Given the description of an element on the screen output the (x, y) to click on. 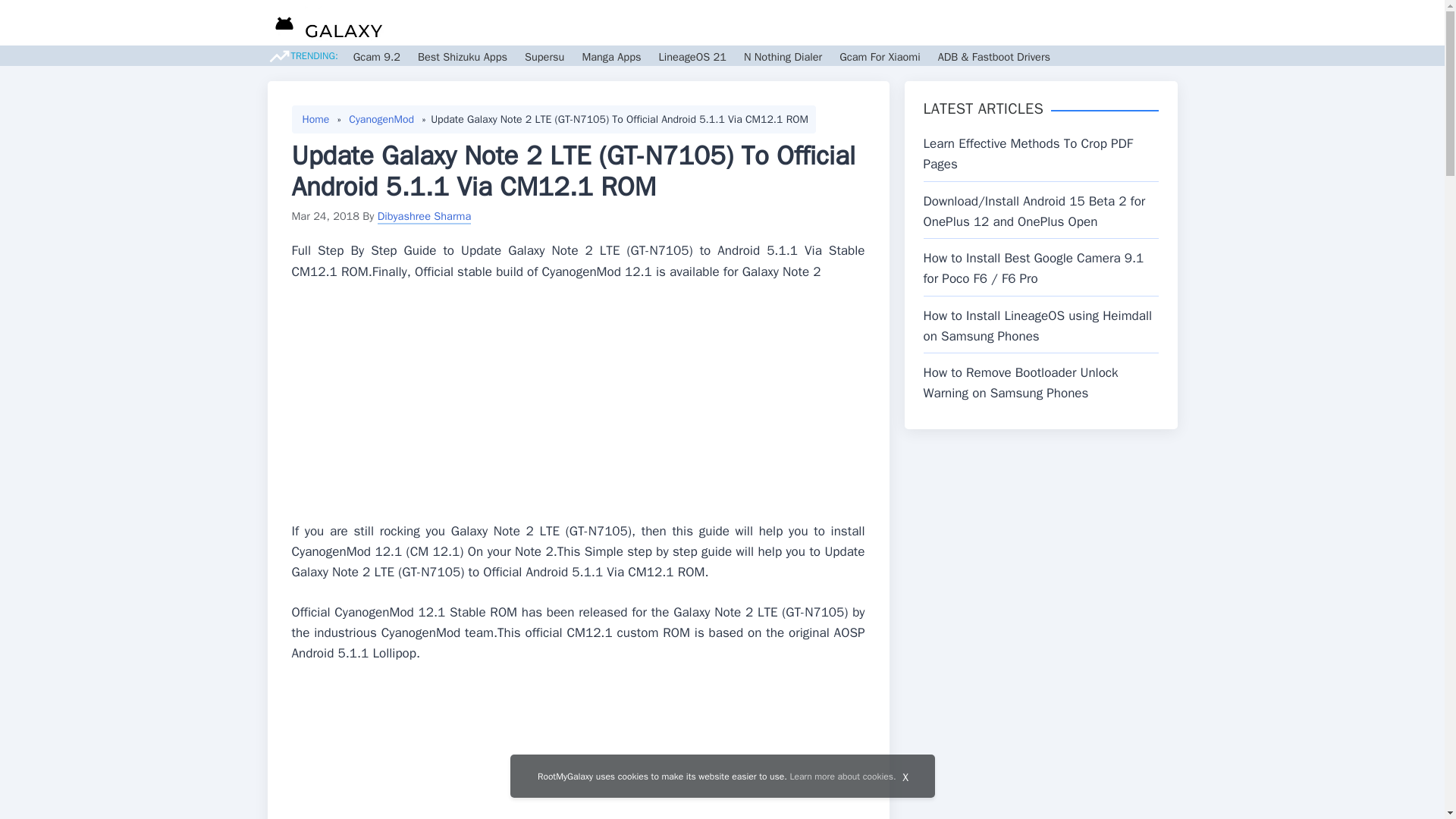
Rootmygalaxy (325, 25)
LineageOS 21 (691, 56)
Gcam (837, 22)
About Us (1101, 22)
Supersu (544, 56)
Dibyashree Sharma (424, 215)
CyanogenMod (381, 119)
Tools (962, 22)
Advertisement (577, 750)
News (734, 22)
